Given the description of an element on the screen output the (x, y) to click on. 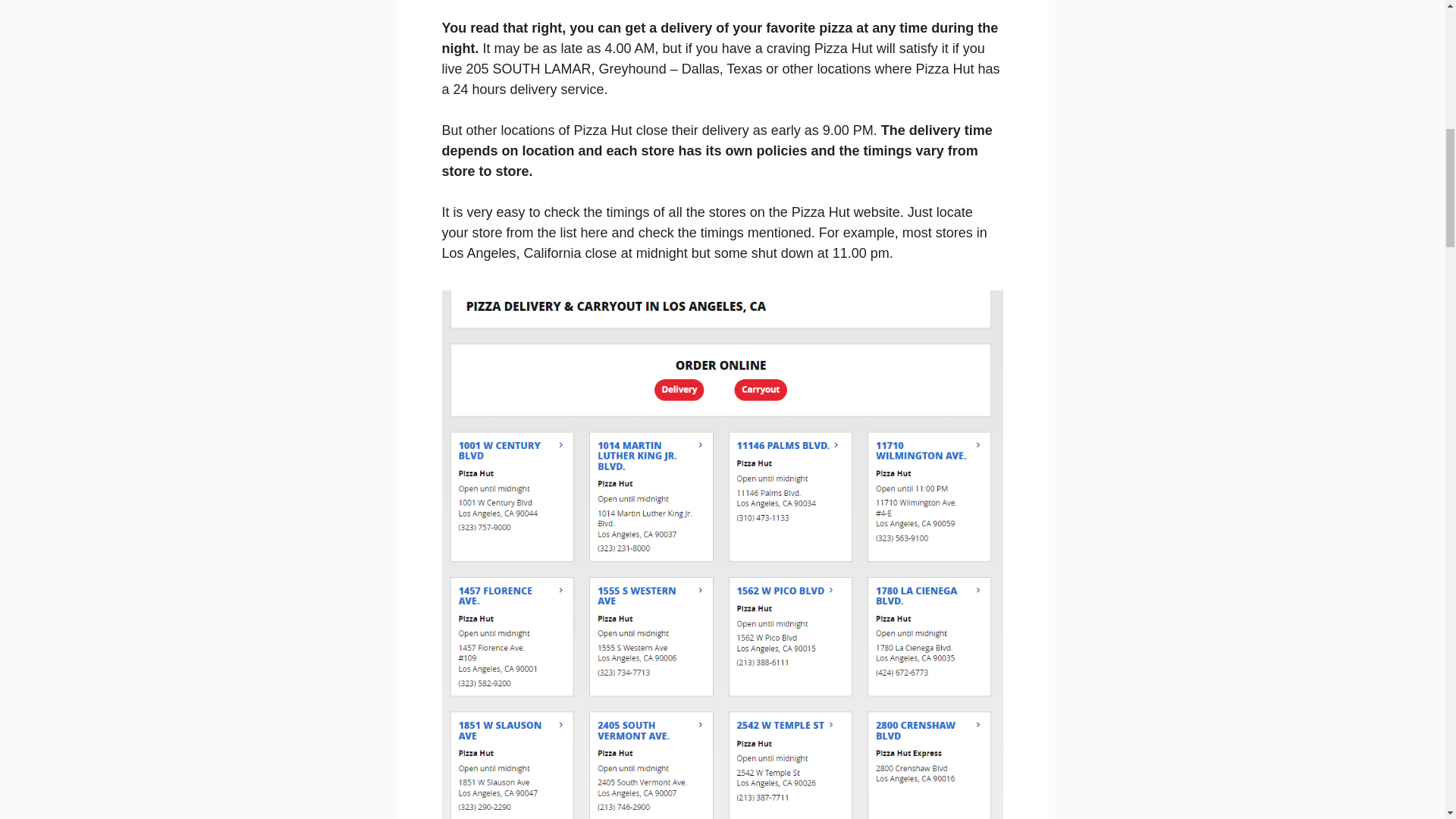
here (595, 232)
205 SOUTH LAMAR (528, 68)
